Given the description of an element on the screen output the (x, y) to click on. 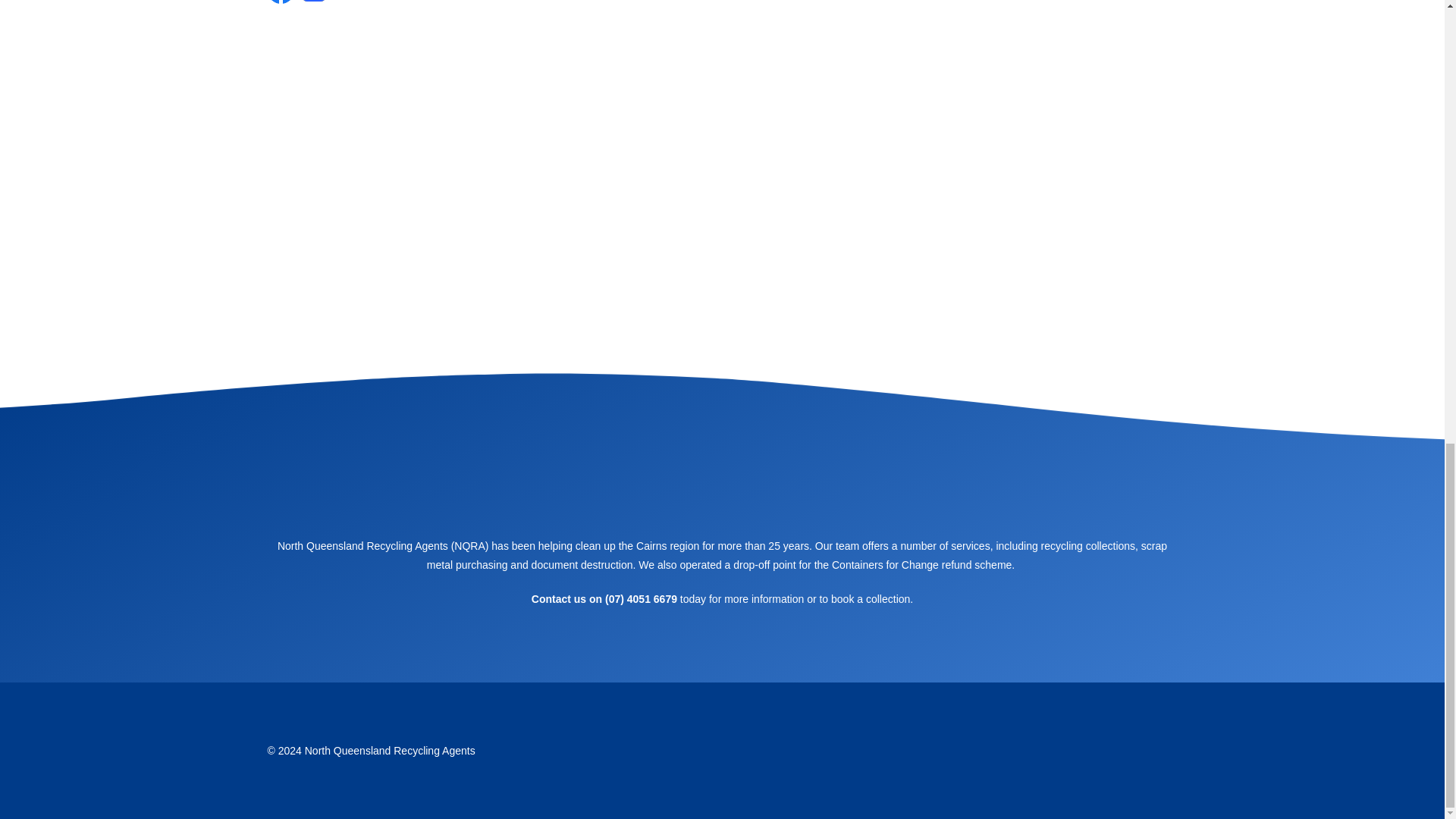
facebook (706, 654)
www.localsearch.com.au (733, 654)
nqra-logo-white-new (721, 483)
